Given the description of an element on the screen output the (x, y) to click on. 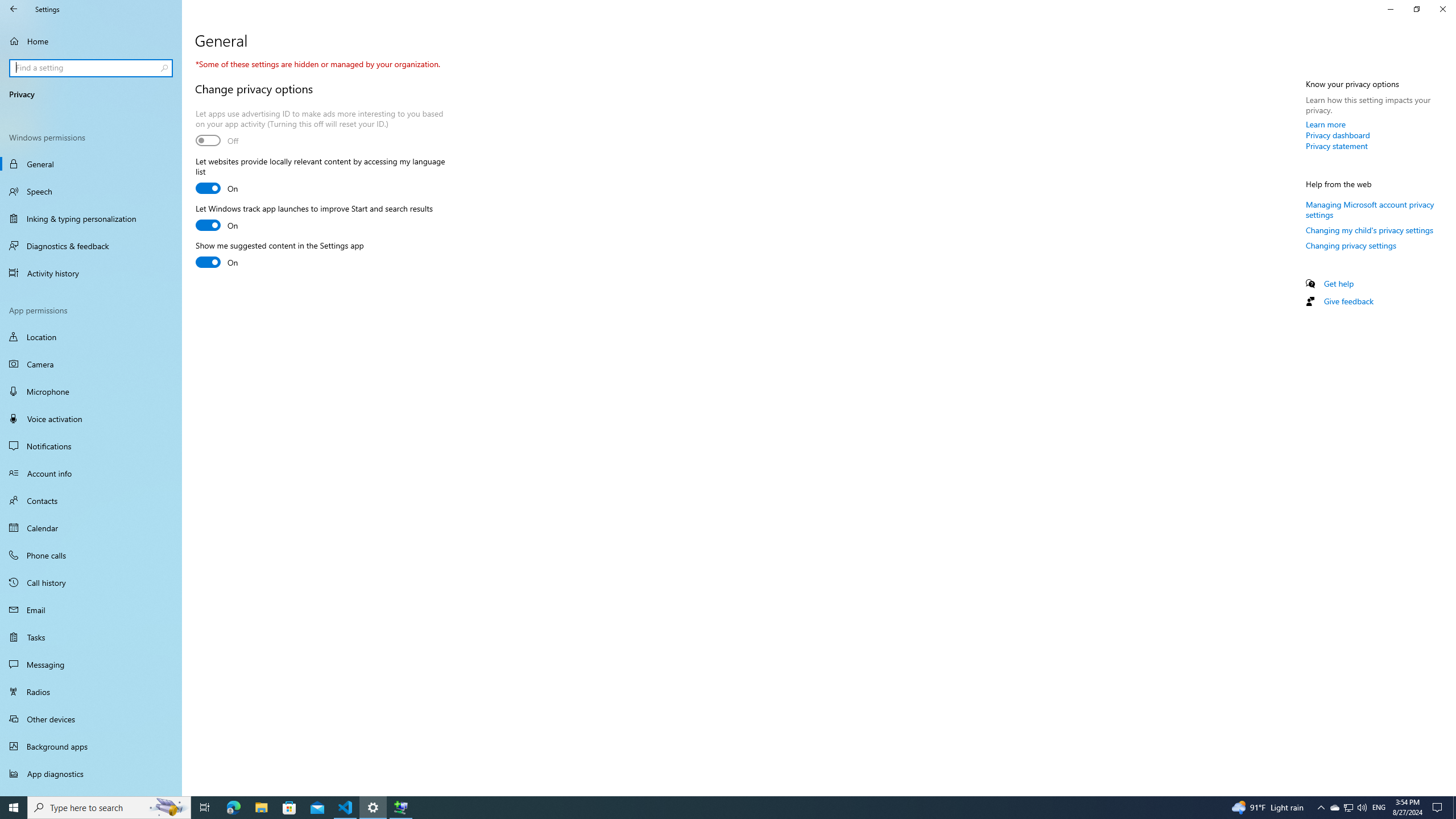
Activity history (91, 272)
Speech (91, 190)
Radios (91, 691)
Voice activation (91, 418)
Privacy statement (1336, 145)
